Given the description of an element on the screen output the (x, y) to click on. 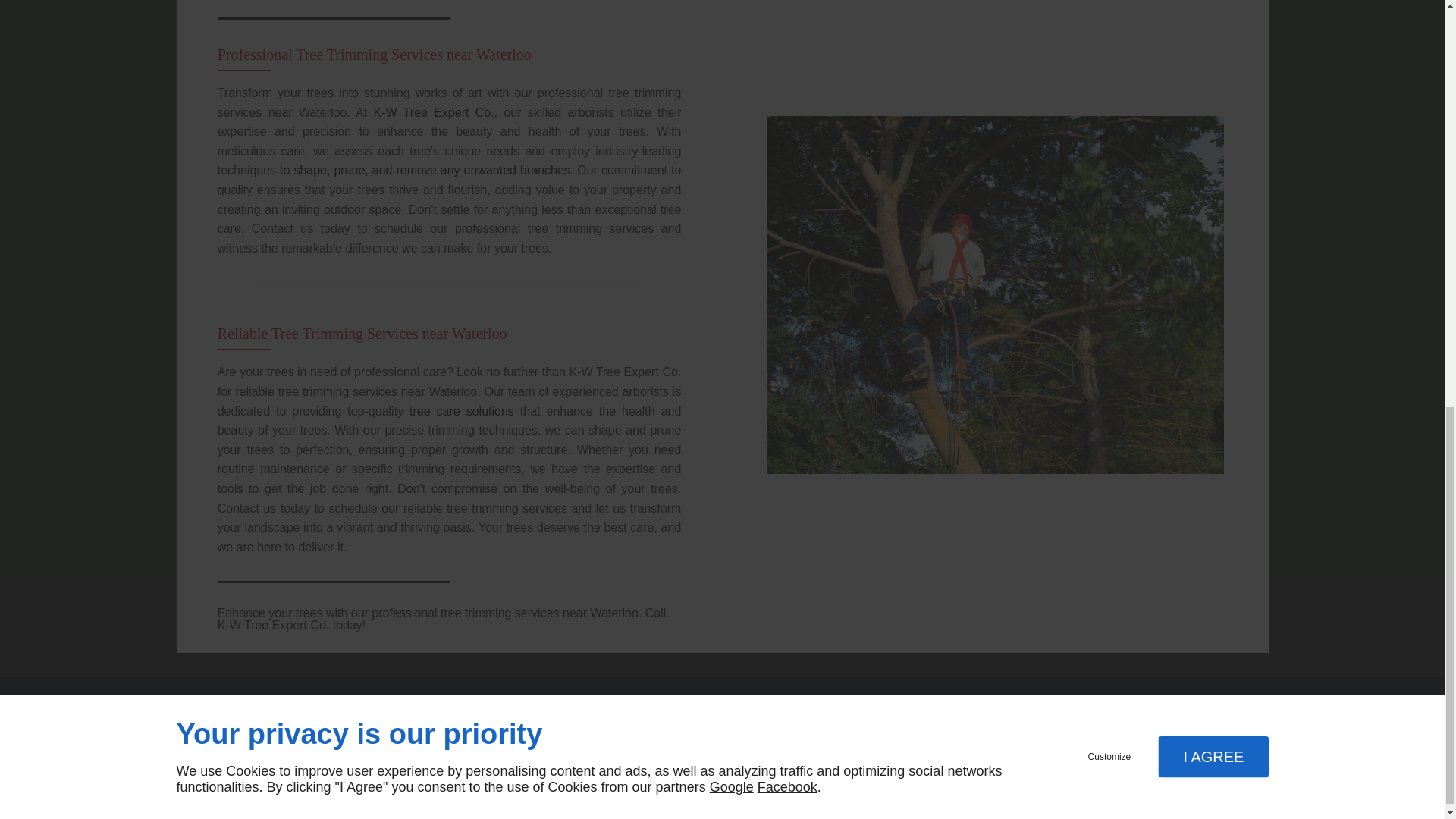
Mybusiness (1244, 707)
linkeo (208, 783)
Facebook (1215, 707)
